Given the description of an element on the screen output the (x, y) to click on. 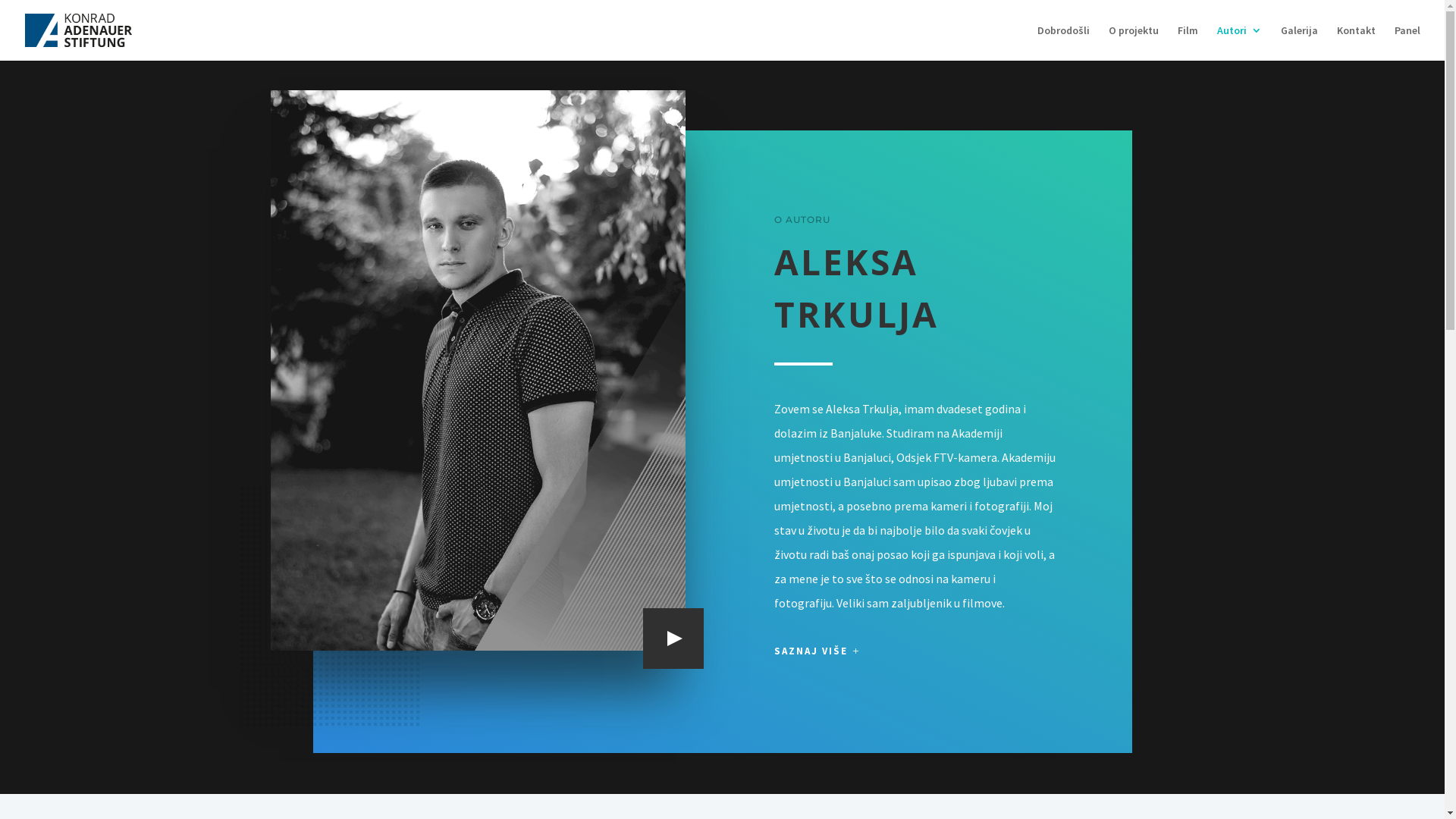
O projektu Element type: text (1133, 42)
Panel Element type: text (1407, 42)
Film Element type: text (1187, 42)
Galerija Element type: text (1298, 42)
Kontakt Element type: text (1355, 42)
Autori Element type: text (1239, 42)
Aleksa_Trkulja_KAS Element type: hover (476, 370)
